Given the description of an element on the screen output the (x, y) to click on. 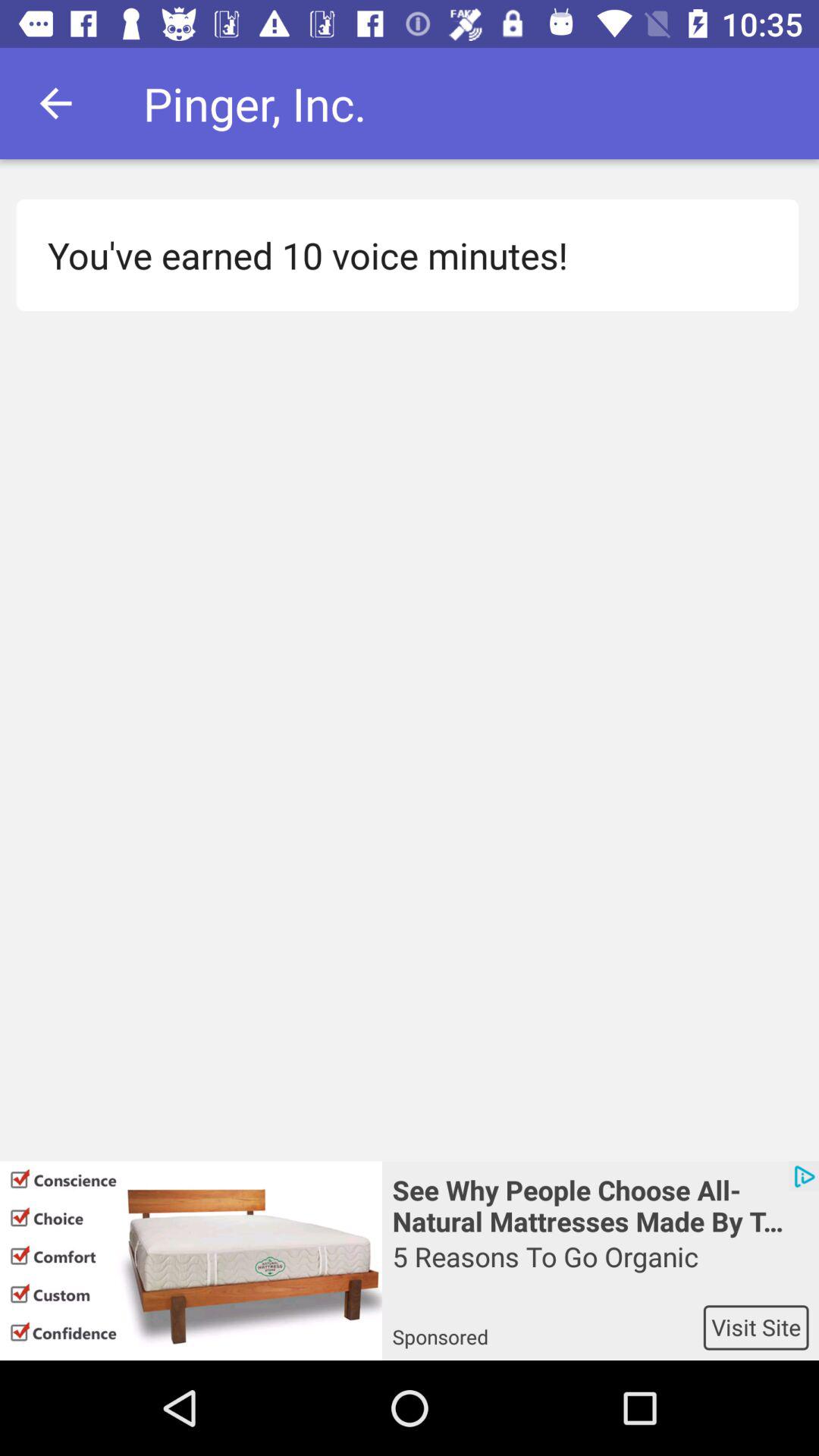
tap item to the left of see why people icon (191, 1260)
